Given the description of an element on the screen output the (x, y) to click on. 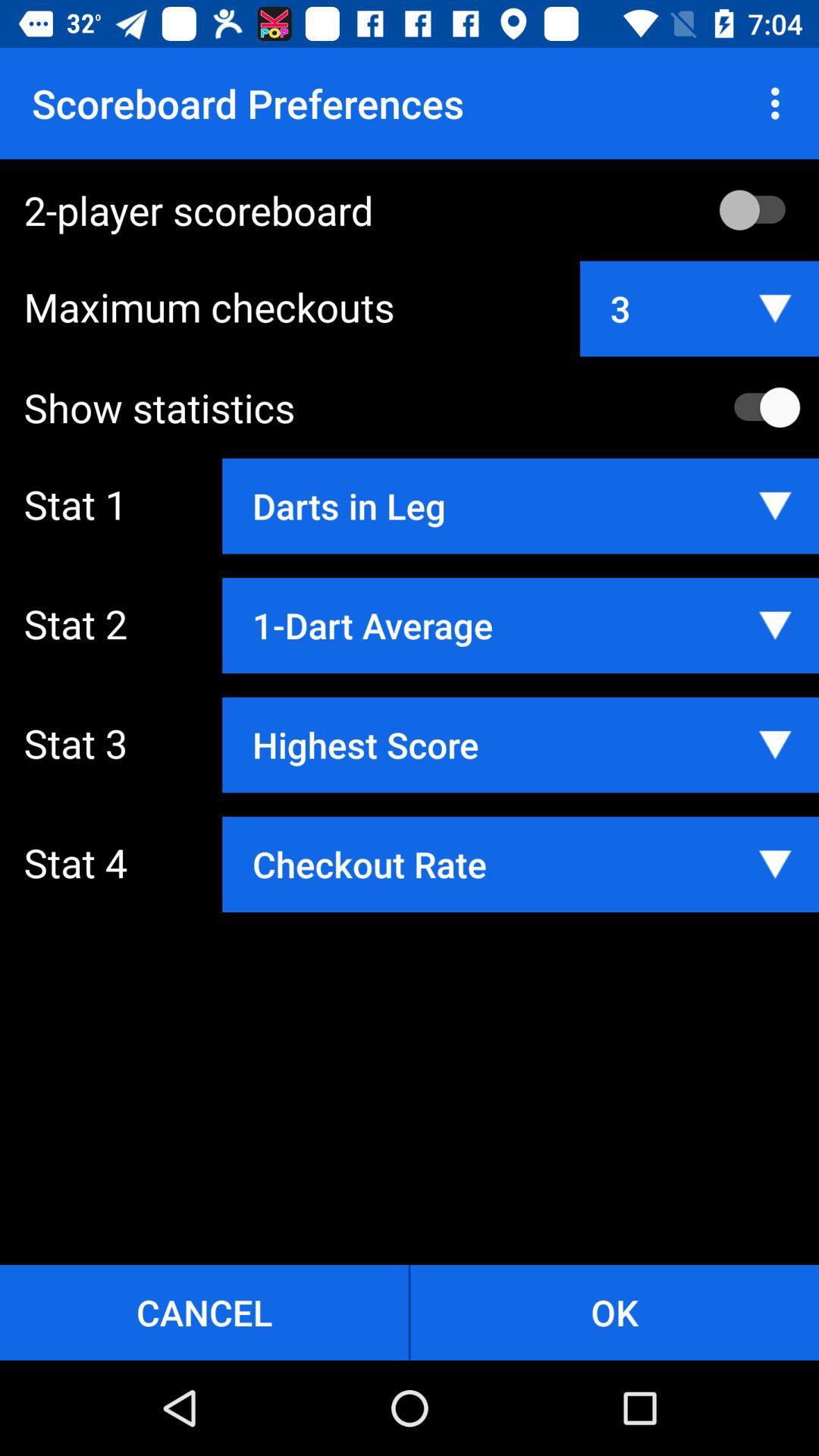
choose the button to the left of ok button (204, 1312)
